Given the description of an element on the screen output the (x, y) to click on. 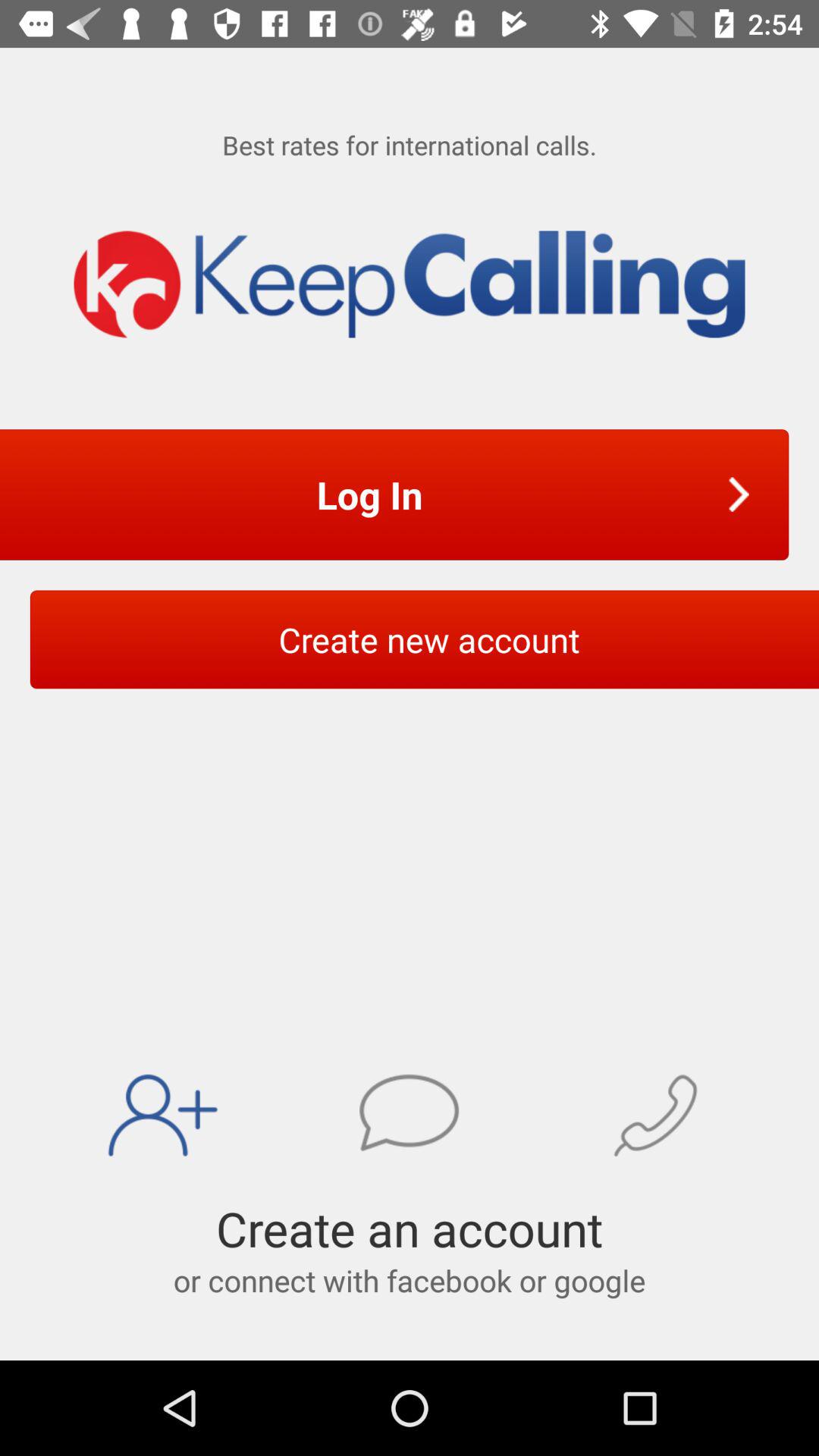
open the item above create new account icon (374, 494)
